Given the description of an element on the screen output the (x, y) to click on. 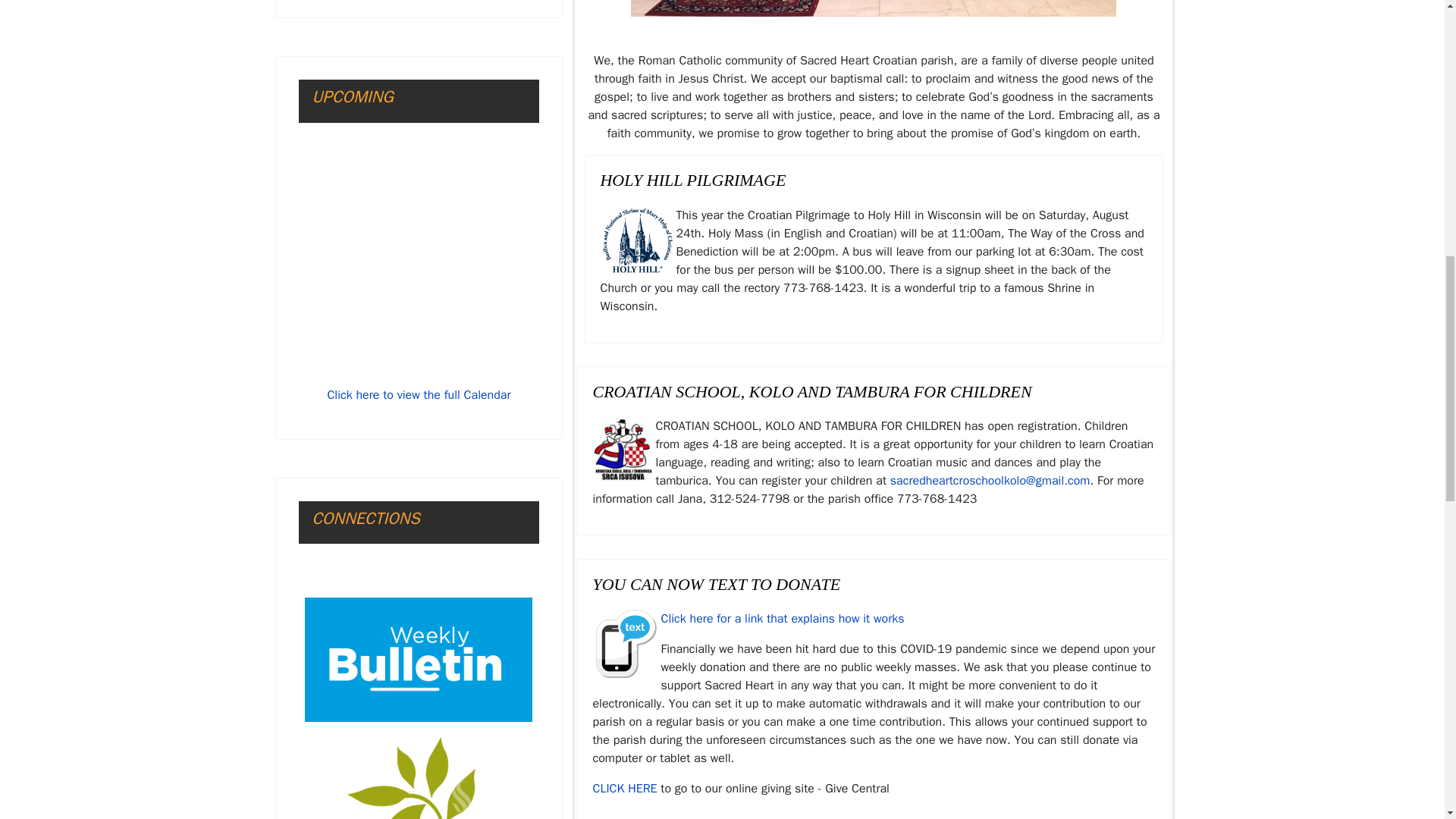
Page 3 (873, 260)
Page 3 (873, 461)
Click here to view the full Calendar (418, 394)
Click here for a link that explains how it works (782, 618)
CLICK HERE (624, 788)
